Given the description of an element on the screen output the (x, y) to click on. 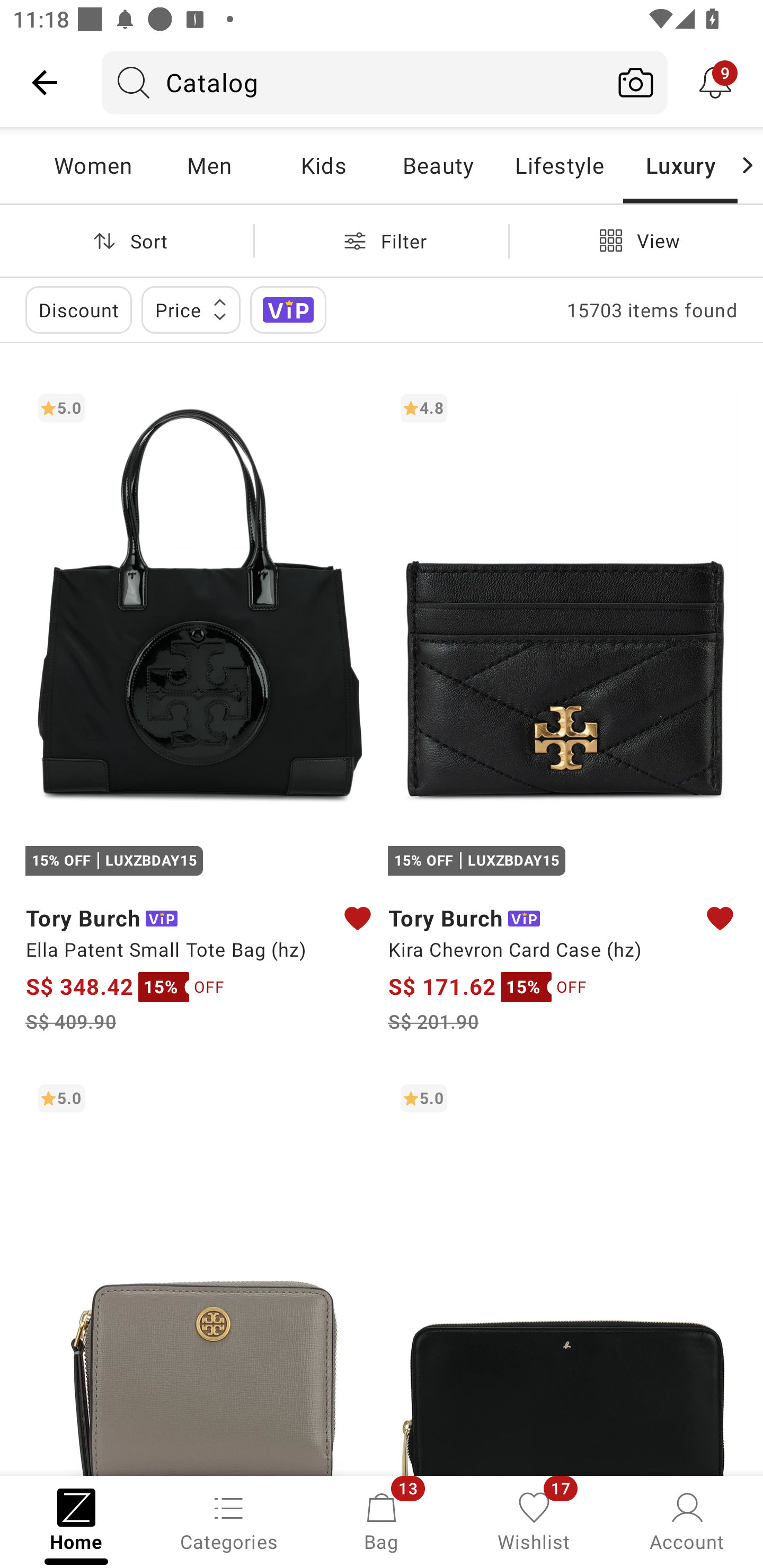
Navigate up (44, 82)
Catalog (426, 82)
Catalog (352, 82)
All (29, 165)
Women (92, 165)
Men (208, 165)
Kids (323, 165)
Beauty (437, 165)
Lifestyle (559, 165)
Sort (126, 240)
Filter (381, 240)
View (636, 240)
Discount (78, 309)
Price (190, 309)
5.0 (200, 1272)
5.0 (562, 1272)
Categories (228, 1519)
Bag, 13 new notifications Bag (381, 1519)
Wishlist, 17 new notifications Wishlist (533, 1519)
Account (686, 1519)
